Given the description of an element on the screen output the (x, y) to click on. 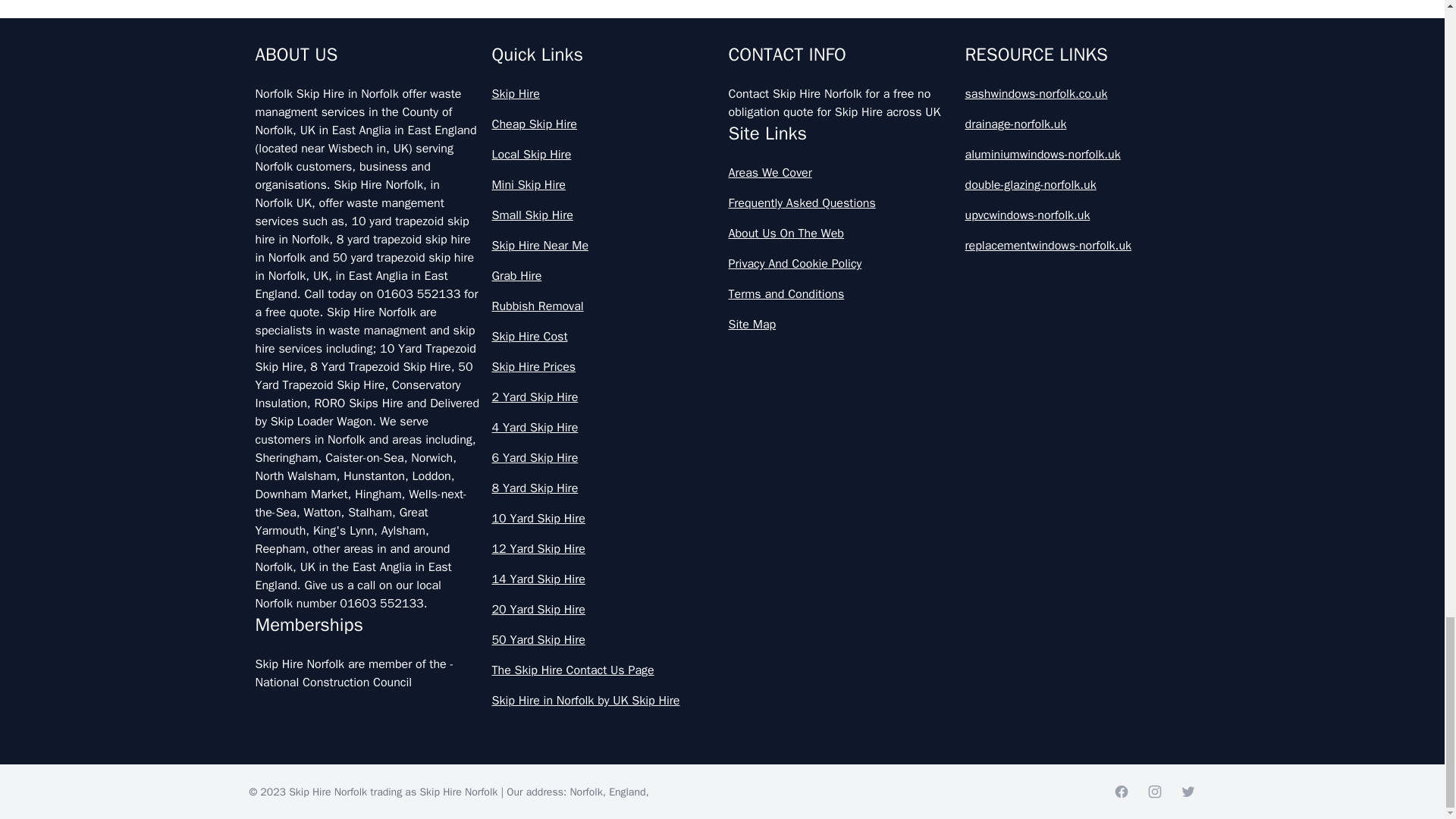
aluminiumwindows-norfolk.uk (1076, 154)
upvcwindows-norfolk.uk (1076, 215)
replacementwindows-norfolk.uk (1076, 245)
Maypole Green (486, 16)
double-glazing-norfolk.uk (1076, 185)
drainage-norfolk.uk (1076, 124)
Stockton (945, 16)
Skip Hire in Norfolk by UK Skip Hire (604, 700)
Toft Monks (945, 79)
Site Map (840, 324)
Three Cocked Hat (486, 79)
sashwindows-norfolk.co.uk (1076, 94)
